Given the description of an element on the screen output the (x, y) to click on. 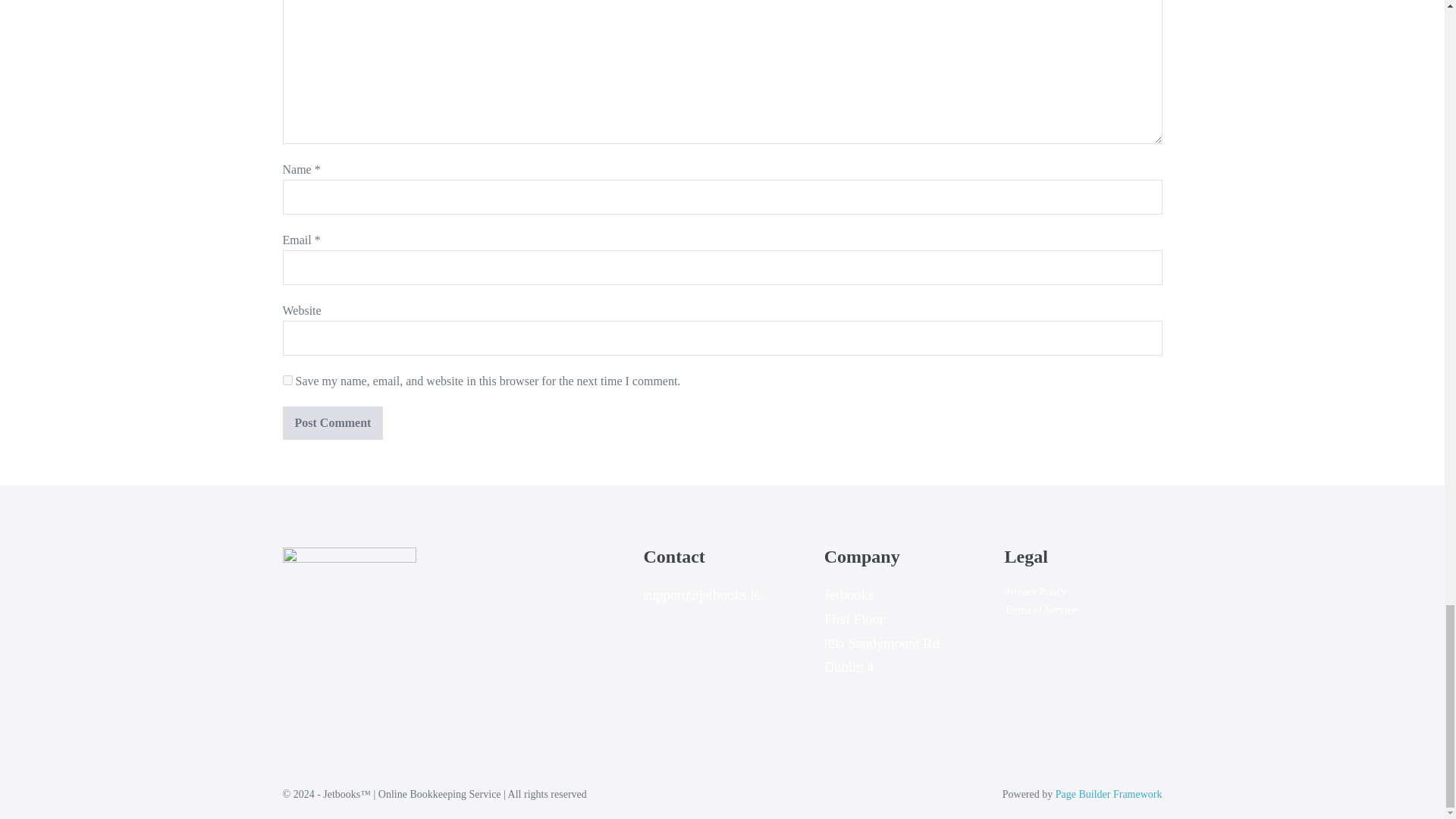
Privacy Policy (1035, 591)
Post Comment (332, 422)
yes (287, 379)
Post Comment (332, 422)
Page Builder Framework (1108, 794)
Terms of Service (1040, 609)
